Given the description of an element on the screen output the (x, y) to click on. 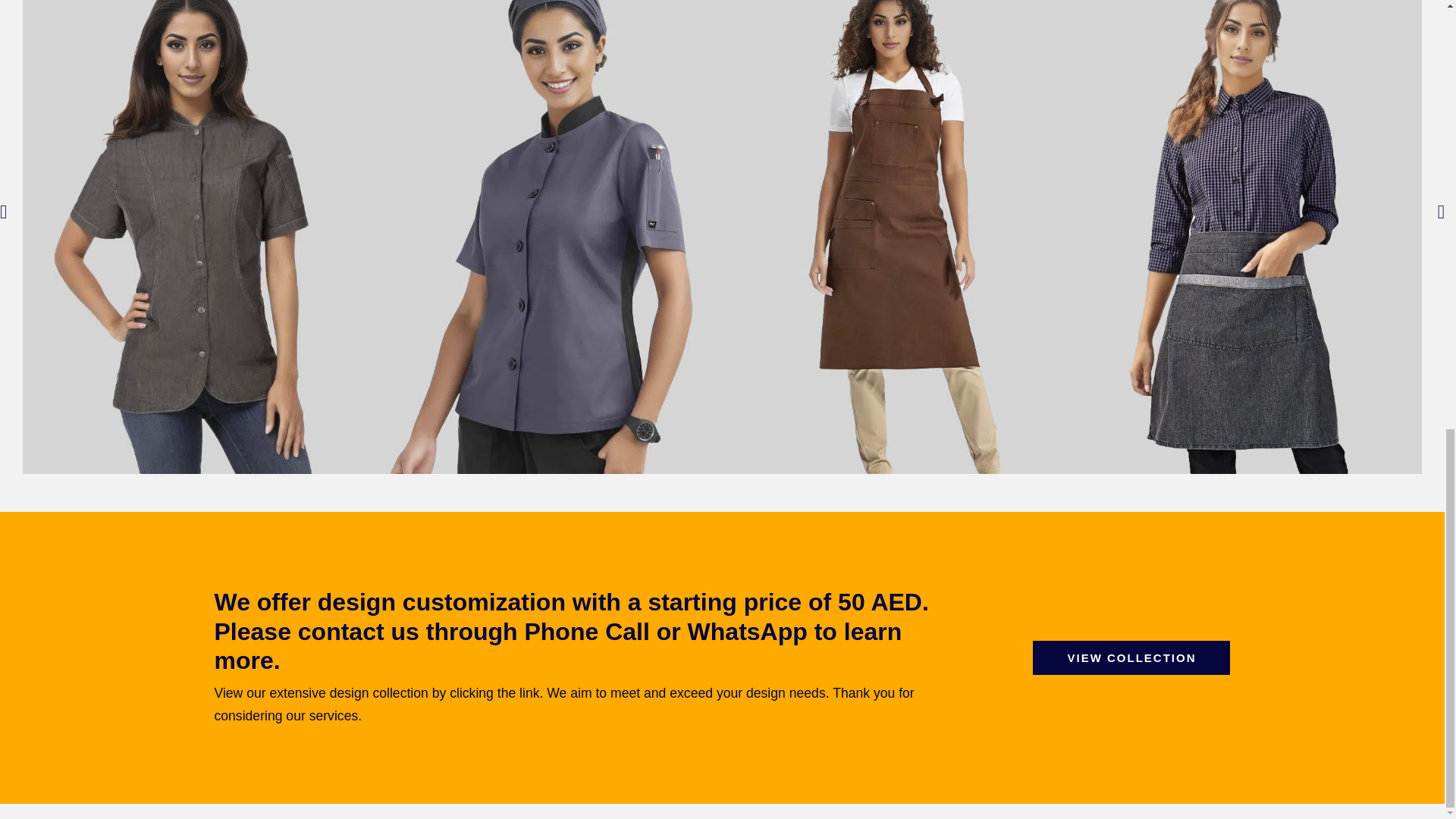
VIEW COLLECTION (1131, 657)
